Given the description of an element on the screen output the (x, y) to click on. 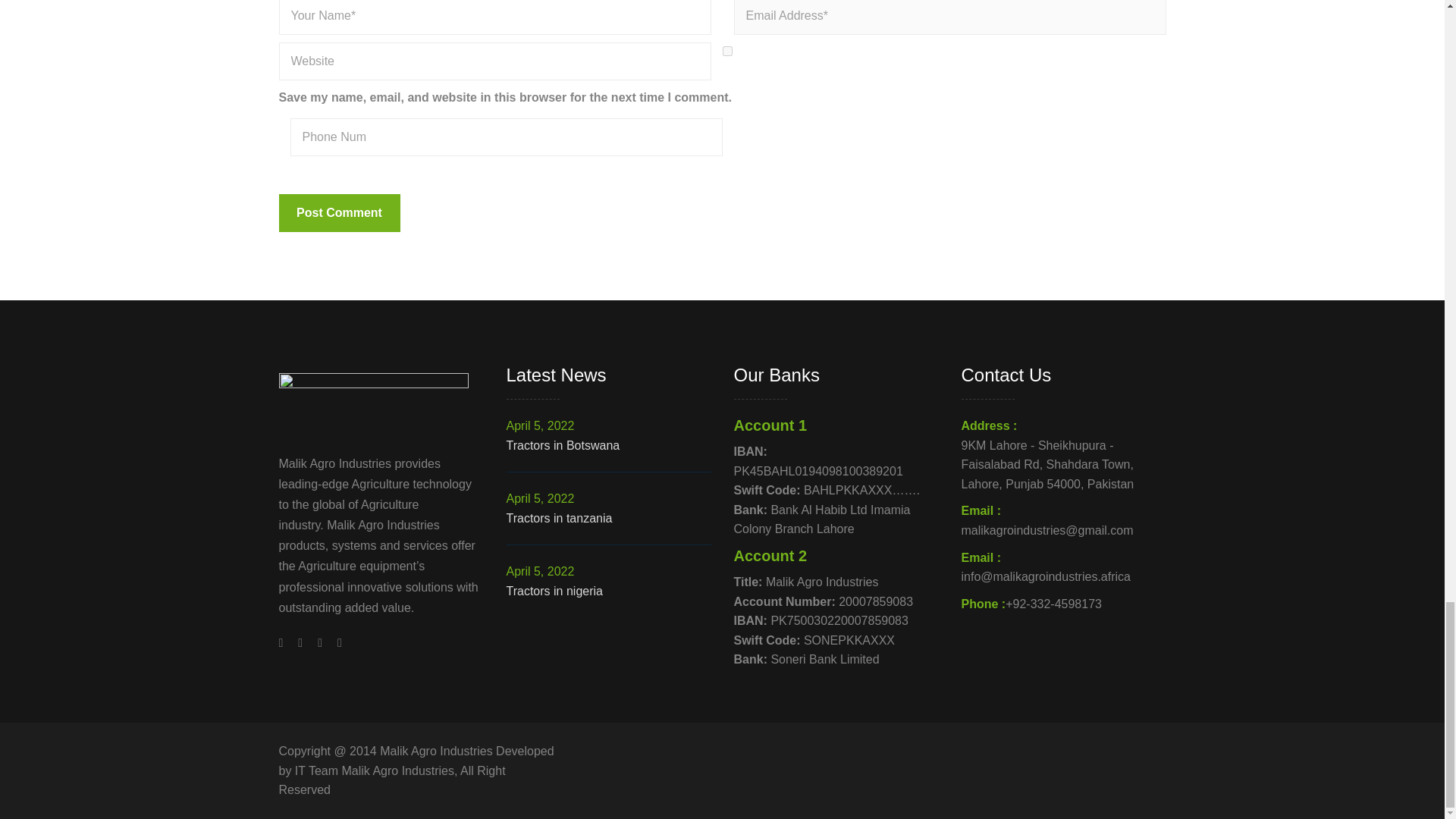
Facebook (285, 642)
Youtube (320, 642)
Twitter (299, 642)
Post Comment (339, 212)
Tractors in tanzania (608, 518)
Tractors in nigeria (608, 591)
Linkedin (336, 642)
yes (727, 50)
Tractors in Botswana (608, 445)
